Given the description of an element on the screen output the (x, y) to click on. 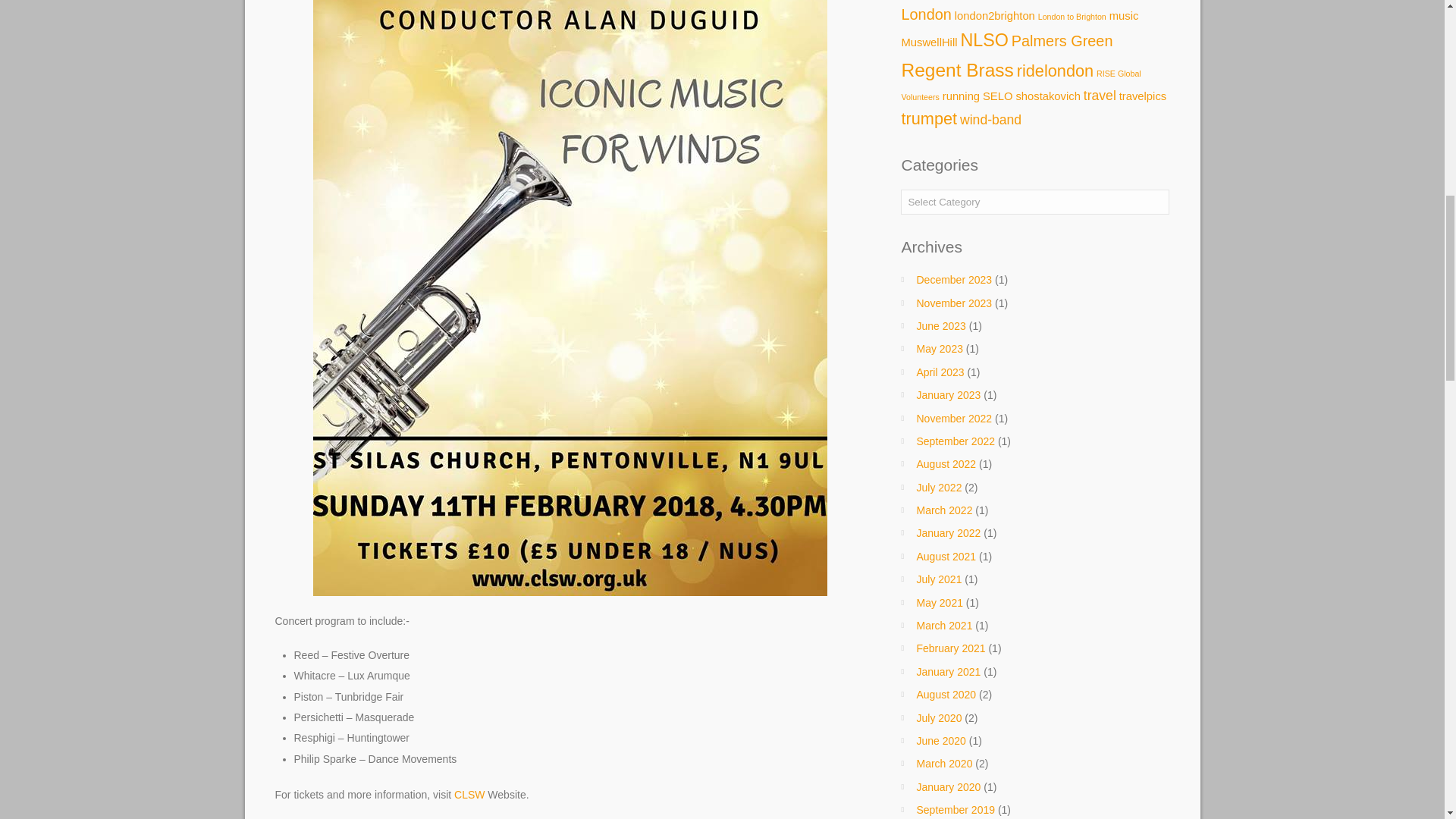
CLSW (469, 794)
